Given the description of an element on the screen output the (x, y) to click on. 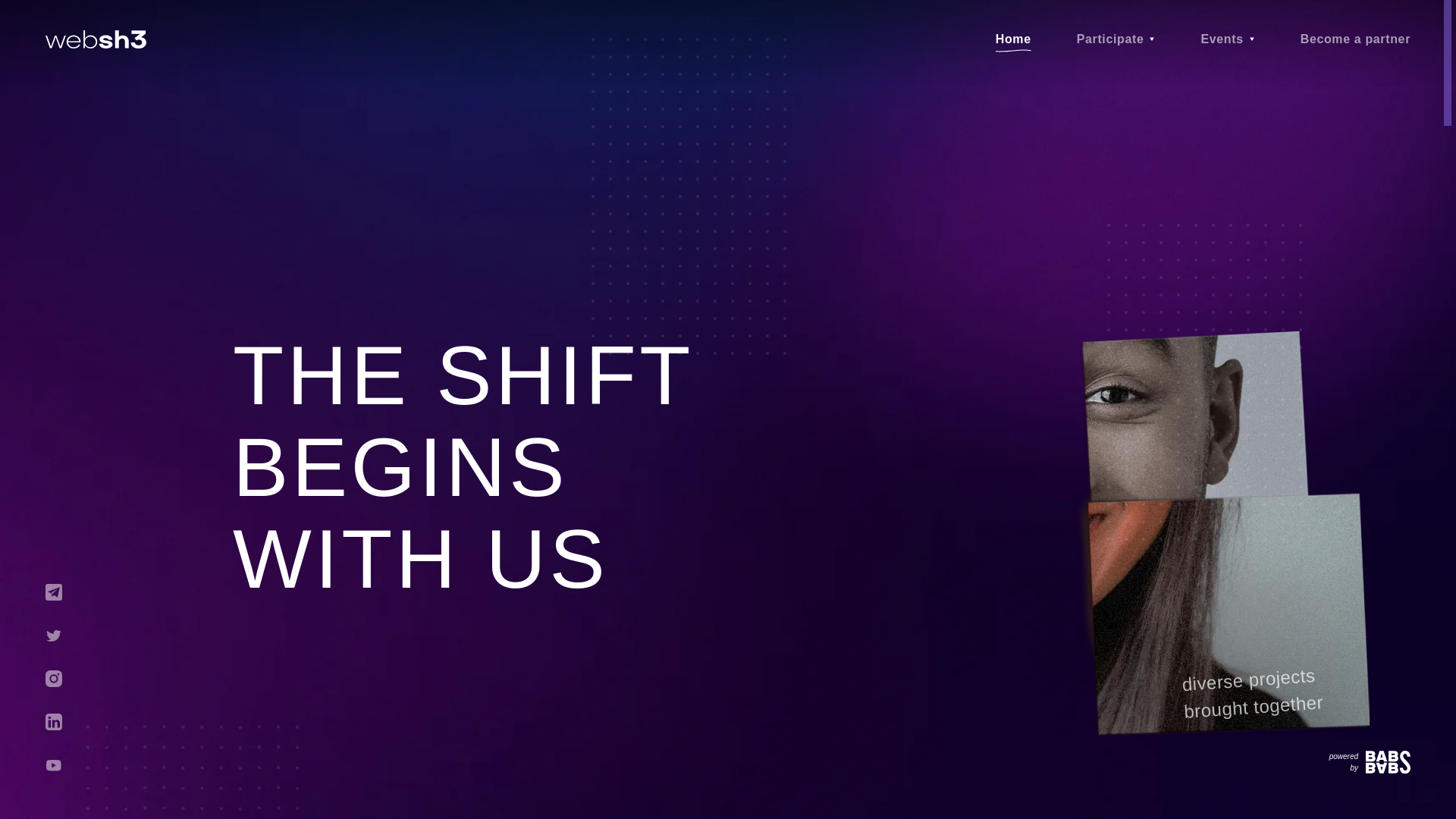
Powered by BabsLabs (1369, 762)
instagram (53, 678)
telegram (53, 591)
twitter (53, 635)
Events (1221, 38)
Become a partner (1355, 38)
linkedin (53, 721)
Home (1012, 38)
youtube (53, 764)
Participate (1110, 38)
